Given the description of an element on the screen output the (x, y) to click on. 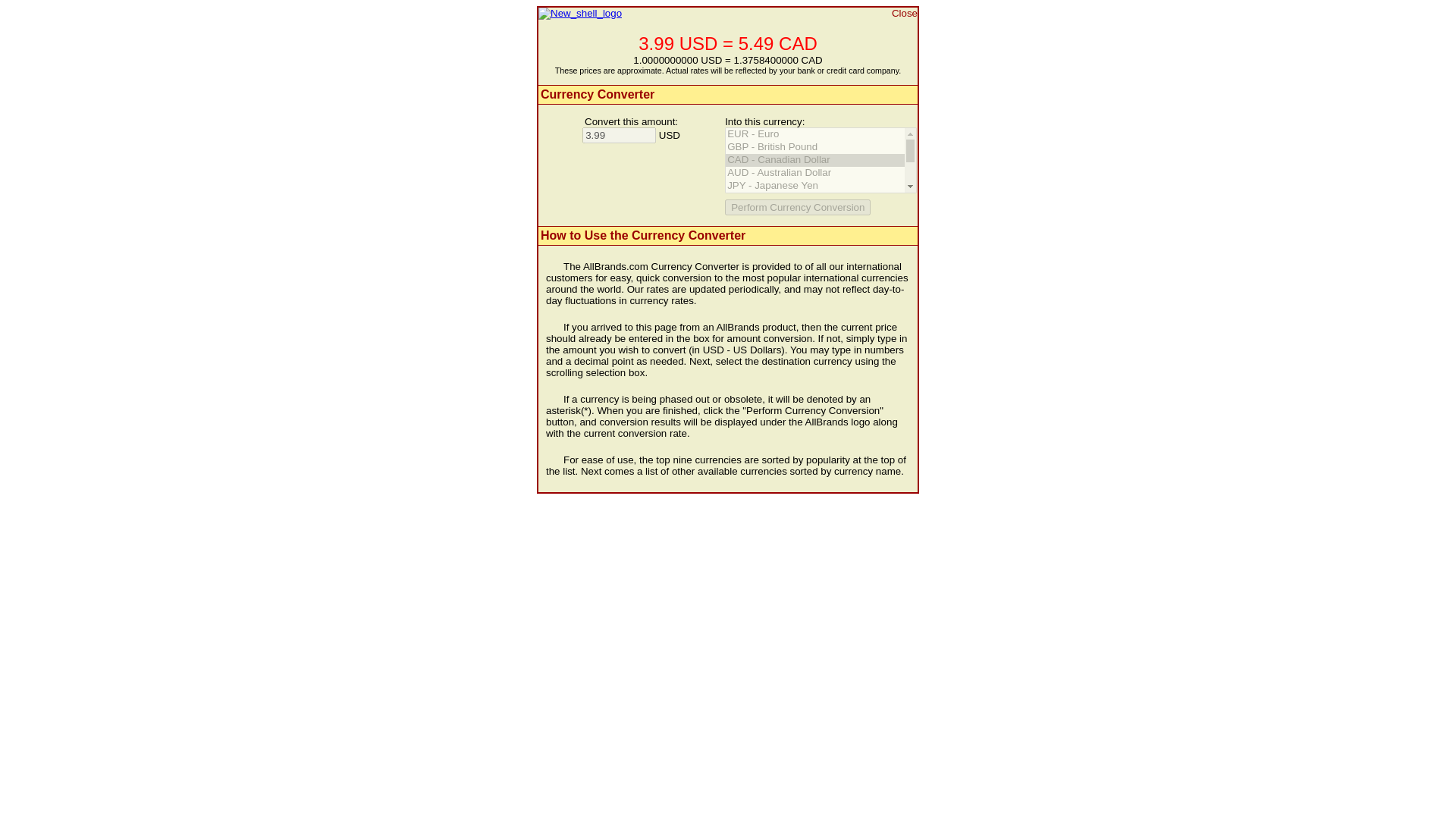
Perform Currency Conversion (797, 207)
Close (904, 12)
Perform Currency Conversion (797, 207)
3.99 (619, 135)
